Given the description of an element on the screen output the (x, y) to click on. 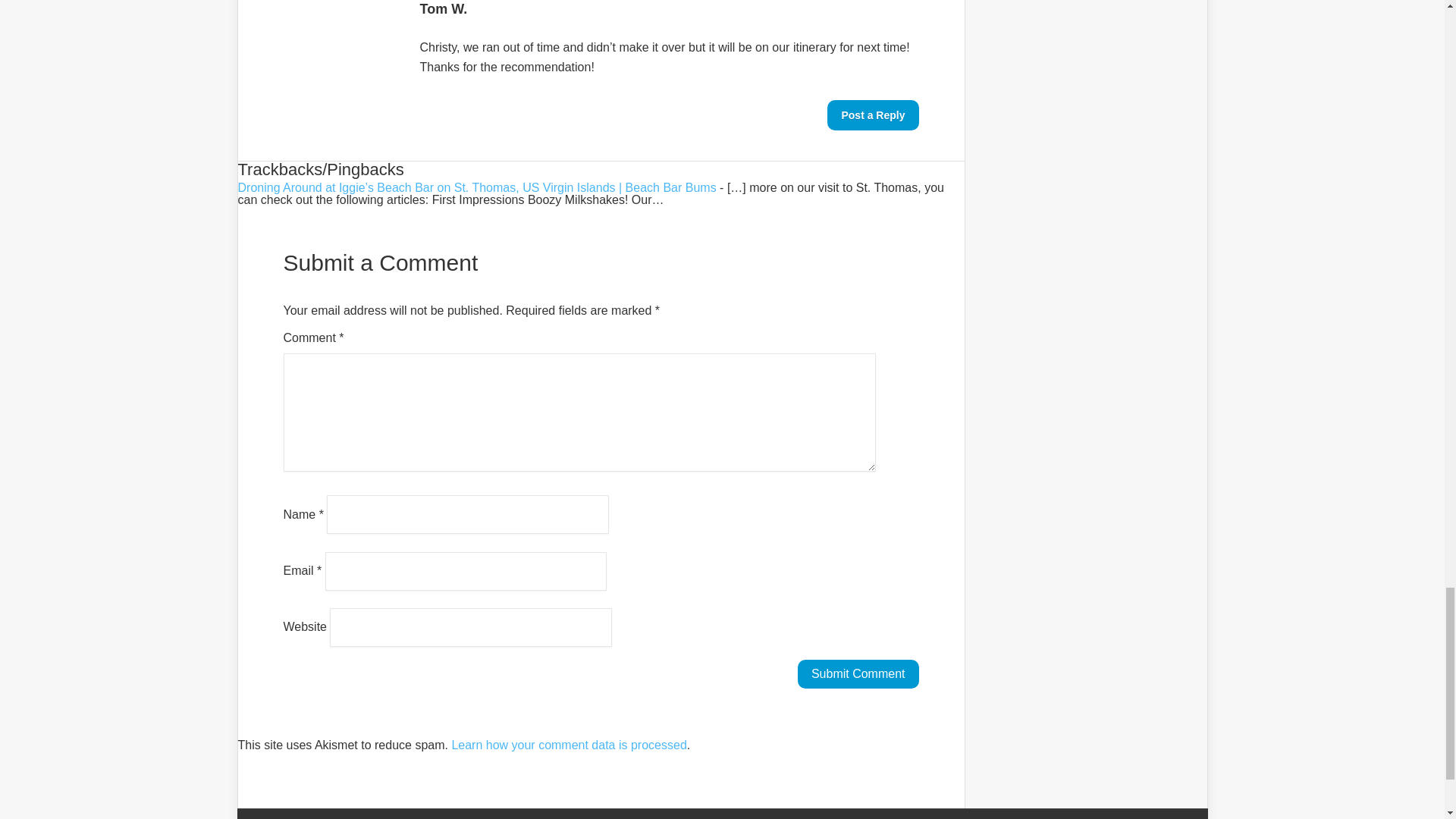
Submit Comment (857, 674)
